Given the description of an element on the screen output the (x, y) to click on. 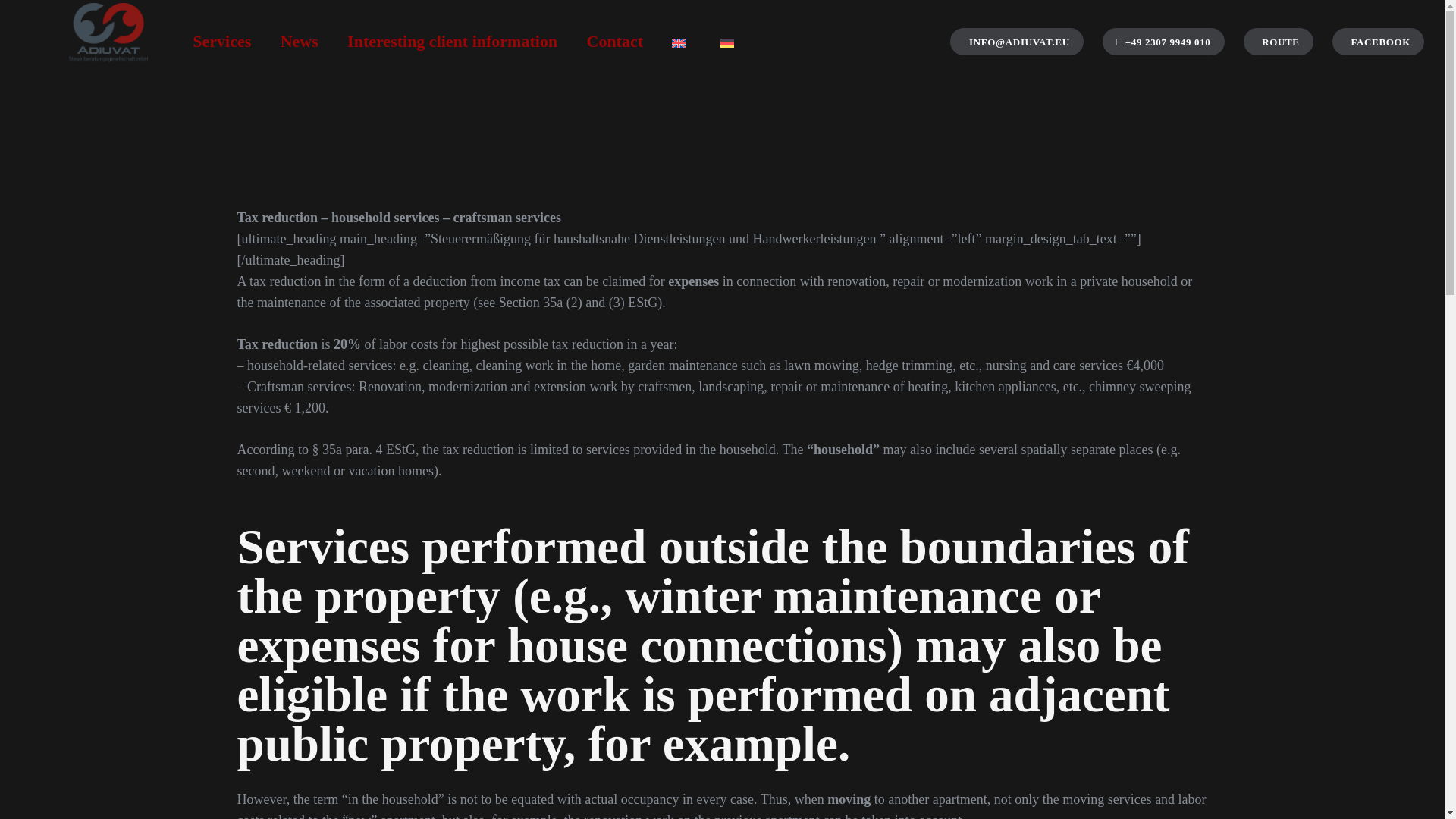
Mitarbeiter (1109, 753)
Contact (615, 41)
Imprint (1362, 753)
FACEBOOK (1377, 41)
Services (220, 41)
Archive (1017, 753)
Interesting client information (452, 41)
News (297, 41)
ROUTE (1278, 41)
Podcast (1203, 753)
